Given the description of an element on the screen output the (x, y) to click on. 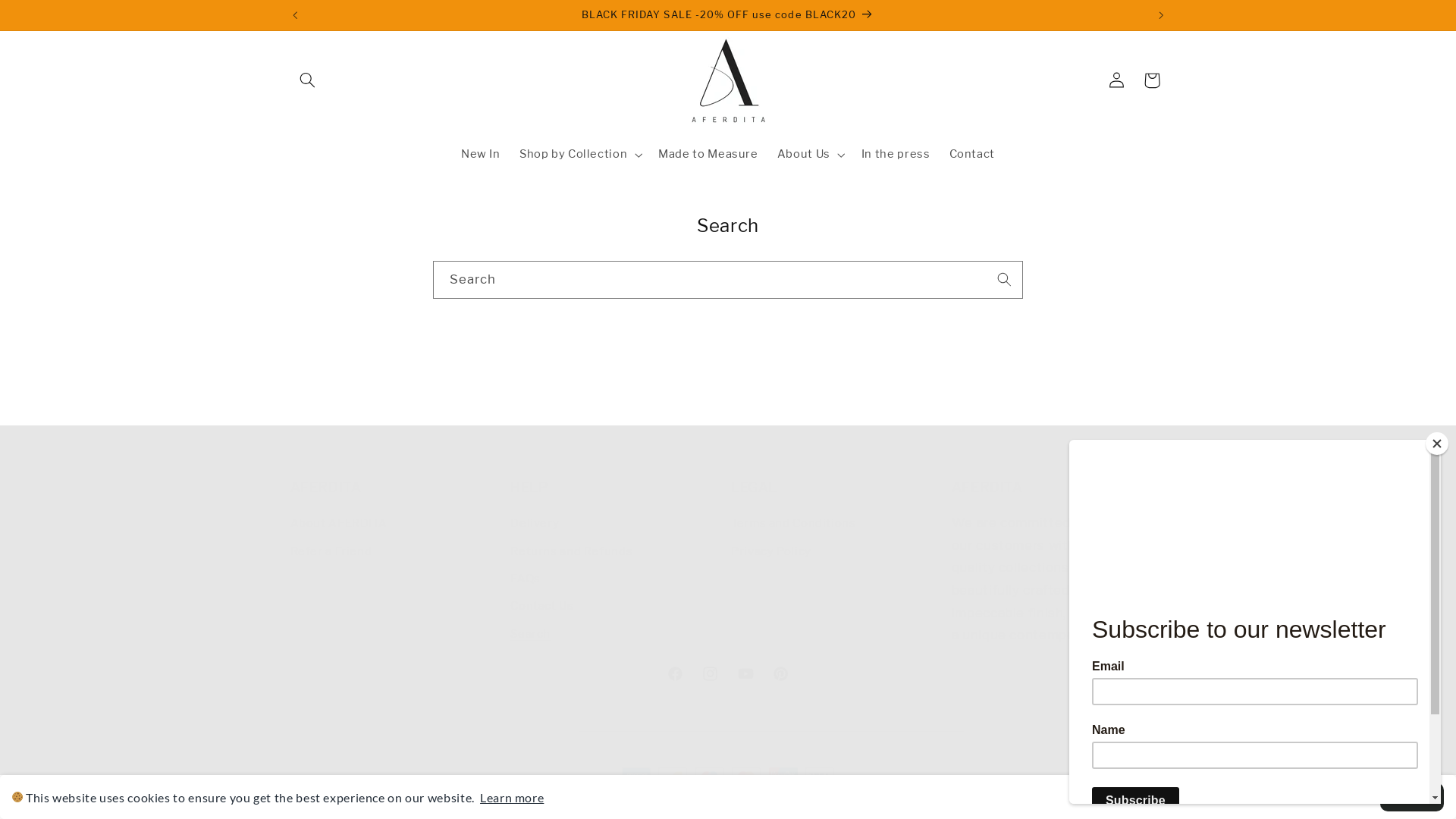
Shipping policy Element type: text (859, 805)
New In Element type: text (480, 154)
YouTube Element type: text (745, 672)
Refer a Friend Element type: text (330, 550)
Contact information Element type: text (955, 805)
In the press Element type: text (895, 154)
BLACK FRIDAY SALE -20% OFF use code BLACK20 Element type: text (728, 15)
Refund policy Element type: text (608, 805)
Facebook Element type: text (675, 672)
Legal notice Element type: text (1044, 805)
Privacy Policy Element type: text (771, 550)
Powered by Shopify Element type: text (515, 805)
Privacy policy Element type: text (686, 805)
Learn more Element type: text (511, 797)
Pinterest Element type: text (779, 672)
Contact Element type: text (971, 154)
Instagram Element type: text (710, 672)
Got it Element type: text (1411, 796)
Delivery Element type: text (534, 525)
AFERDITA Element type: text (443, 805)
Terms and Conditions Element type: text (793, 525)
About AFERDITA Element type: text (337, 525)
Log in Element type: text (1115, 79)
FAQs Element type: text (525, 579)
Search Element type: text (530, 633)
Made to Measure Element type: text (708, 154)
Returns and Refunds Element type: text (571, 550)
Contact Us Element type: text (541, 606)
Cart Element type: text (1151, 79)
Terms of service Element type: text (771, 805)
